Given the description of an element on the screen output the (x, y) to click on. 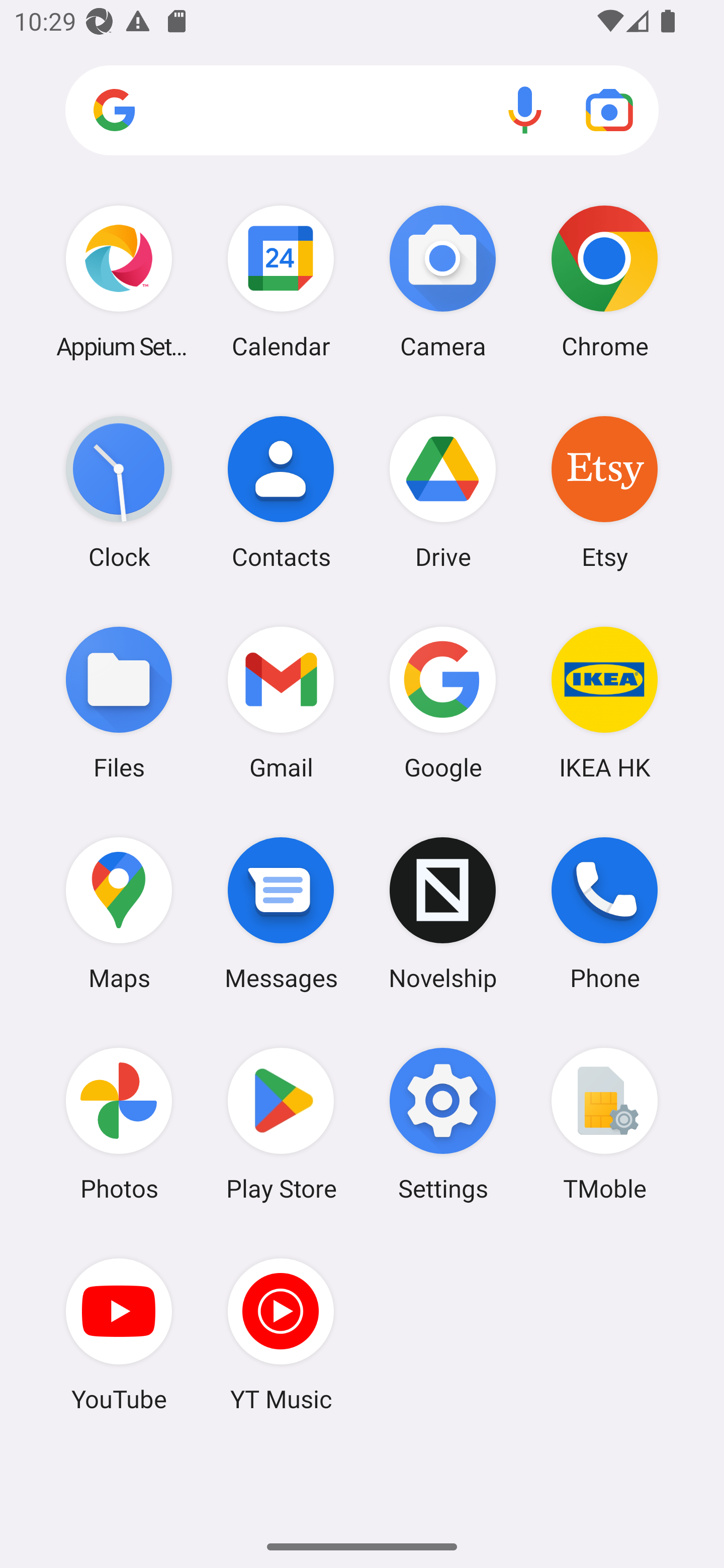
Search apps, web and more (361, 110)
Voice search (524, 109)
Google Lens (608, 109)
Appium Settings (118, 281)
Calendar (280, 281)
Camera (443, 281)
Chrome (604, 281)
Clock (118, 492)
Contacts (280, 492)
Drive (443, 492)
Etsy (604, 492)
Files (118, 702)
Gmail (280, 702)
Google (443, 702)
IKEA HK (604, 702)
Maps (118, 913)
Messages (280, 913)
Novelship (443, 913)
Phone (604, 913)
Photos (118, 1124)
Play Store (280, 1124)
Settings (443, 1124)
TMoble (604, 1124)
YouTube (118, 1334)
YT Music (280, 1334)
